Given the description of an element on the screen output the (x, y) to click on. 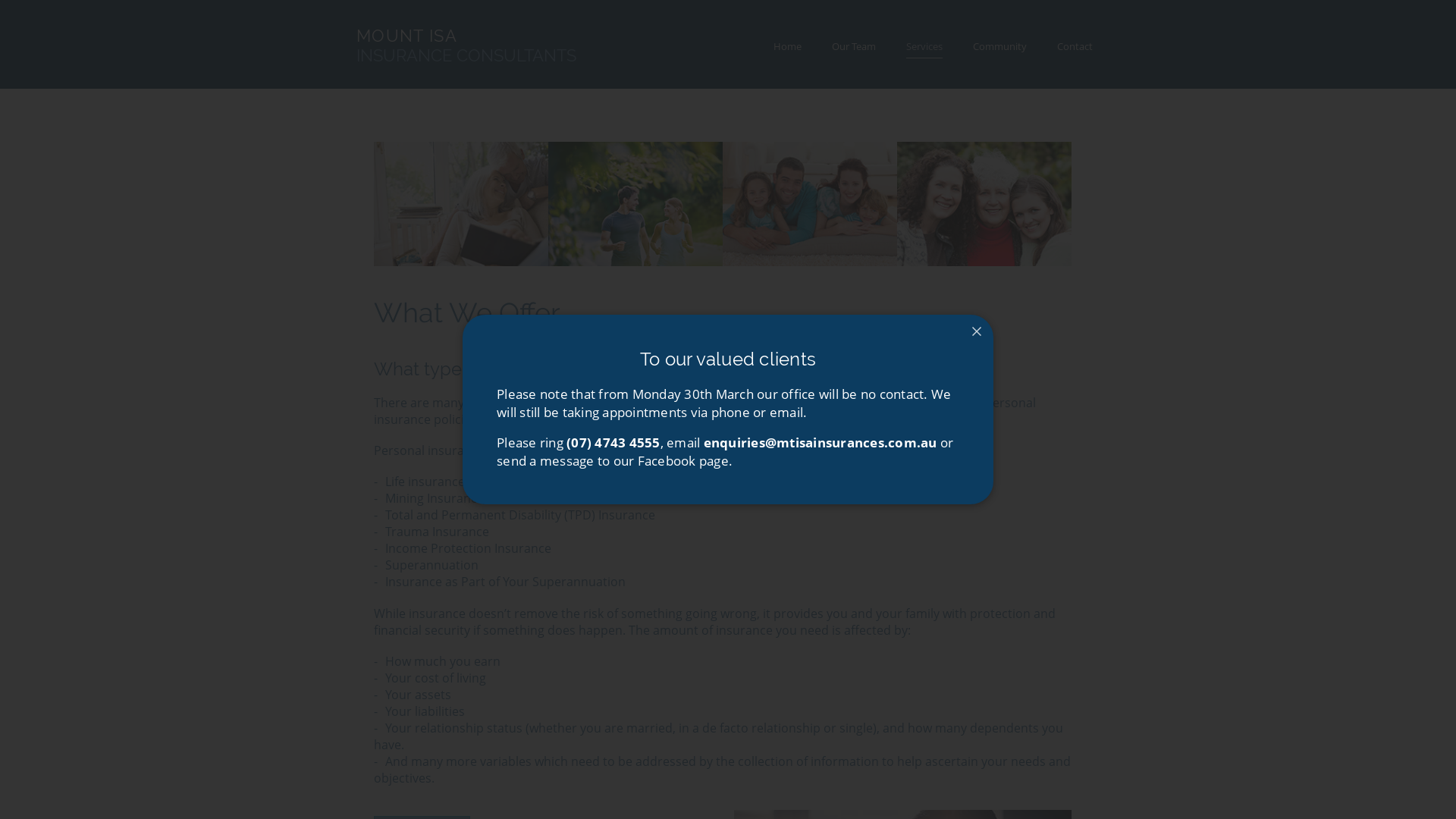
Life insurance Element type: text (424, 481)
Services Element type: text (924, 46)
Superannuation Element type: text (431, 565)
Home Element type: text (787, 46)
Total and Permanent Disability (TPD) Insurance Element type: text (520, 515)
Our Team Element type: text (853, 46)
Close Element type: hover (976, 331)
Contact Element type: text (1074, 46)
MOUNT ISA
INSURANCE CONSULTANTS Element type: text (466, 45)
Community Element type: text (999, 46)
Mining Insurance Element type: text (434, 498)
Income Protection Insurance Element type: text (468, 548)
Insurance as Part of Your Superannuation Element type: text (505, 581)
Trauma Insurance Element type: text (437, 531)
